Given the description of an element on the screen output the (x, y) to click on. 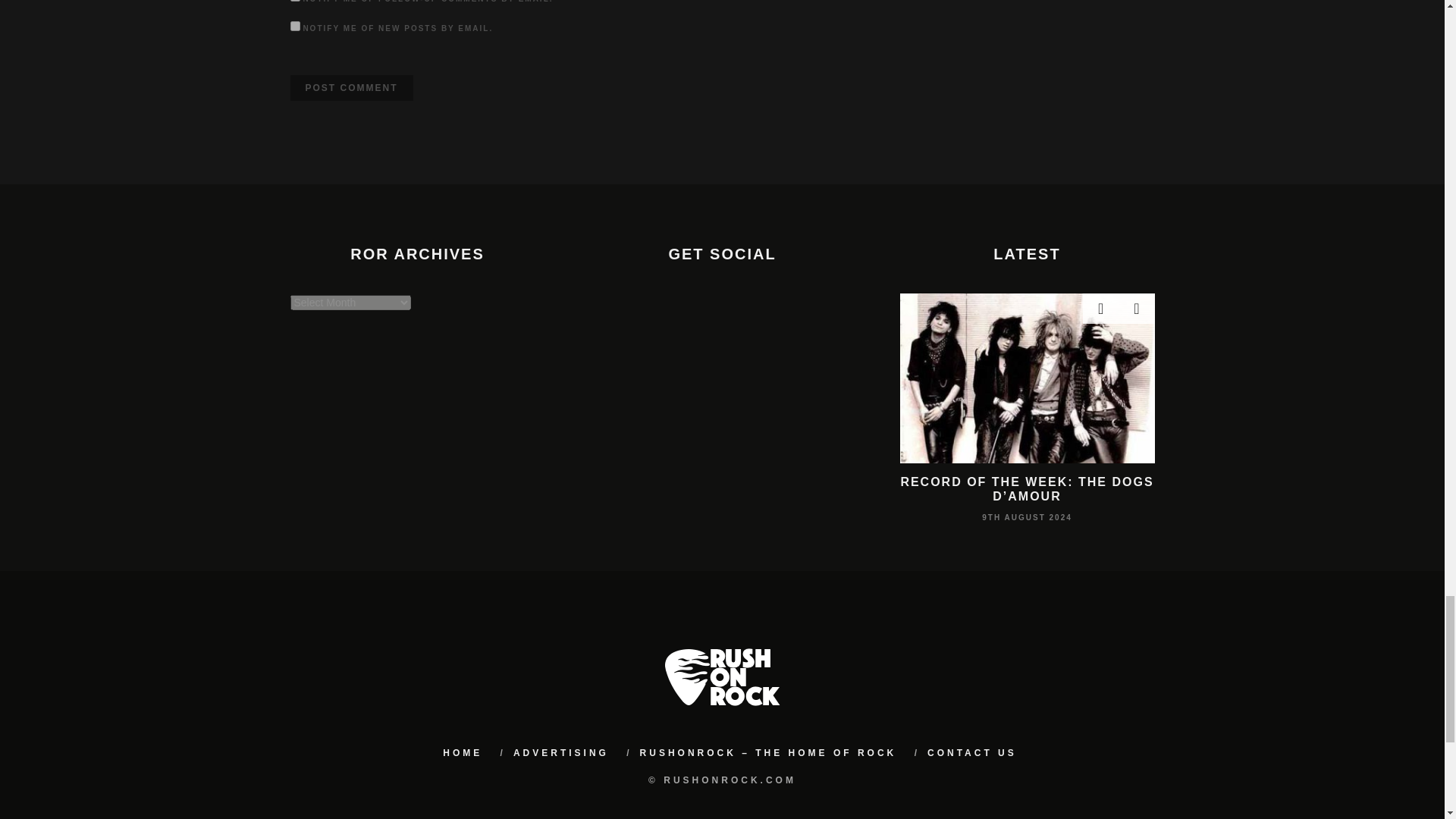
subscribe (294, 26)
Post Comment (350, 87)
